Given the description of an element on the screen output the (x, y) to click on. 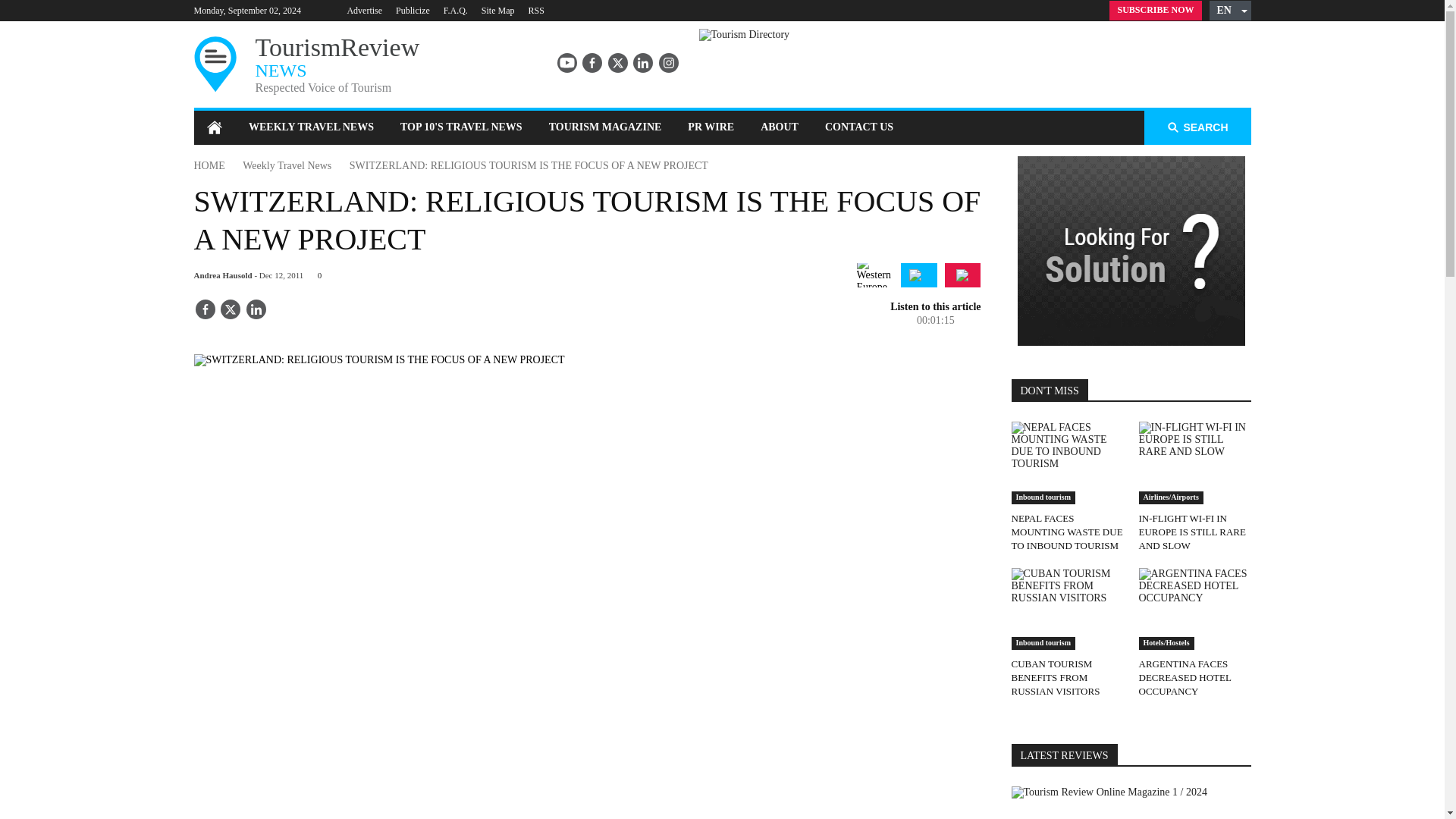
SUBSCRIBE NOW (1155, 10)
Religious and pilgrim travel news (918, 275)
F.A.Q. (455, 9)
Religious and pilgrim travel news (919, 274)
TOURISM MAGAZINE (605, 127)
PR WIRE (711, 127)
Advertise (363, 9)
Article in pdf (961, 274)
